Given the description of an element on the screen output the (x, y) to click on. 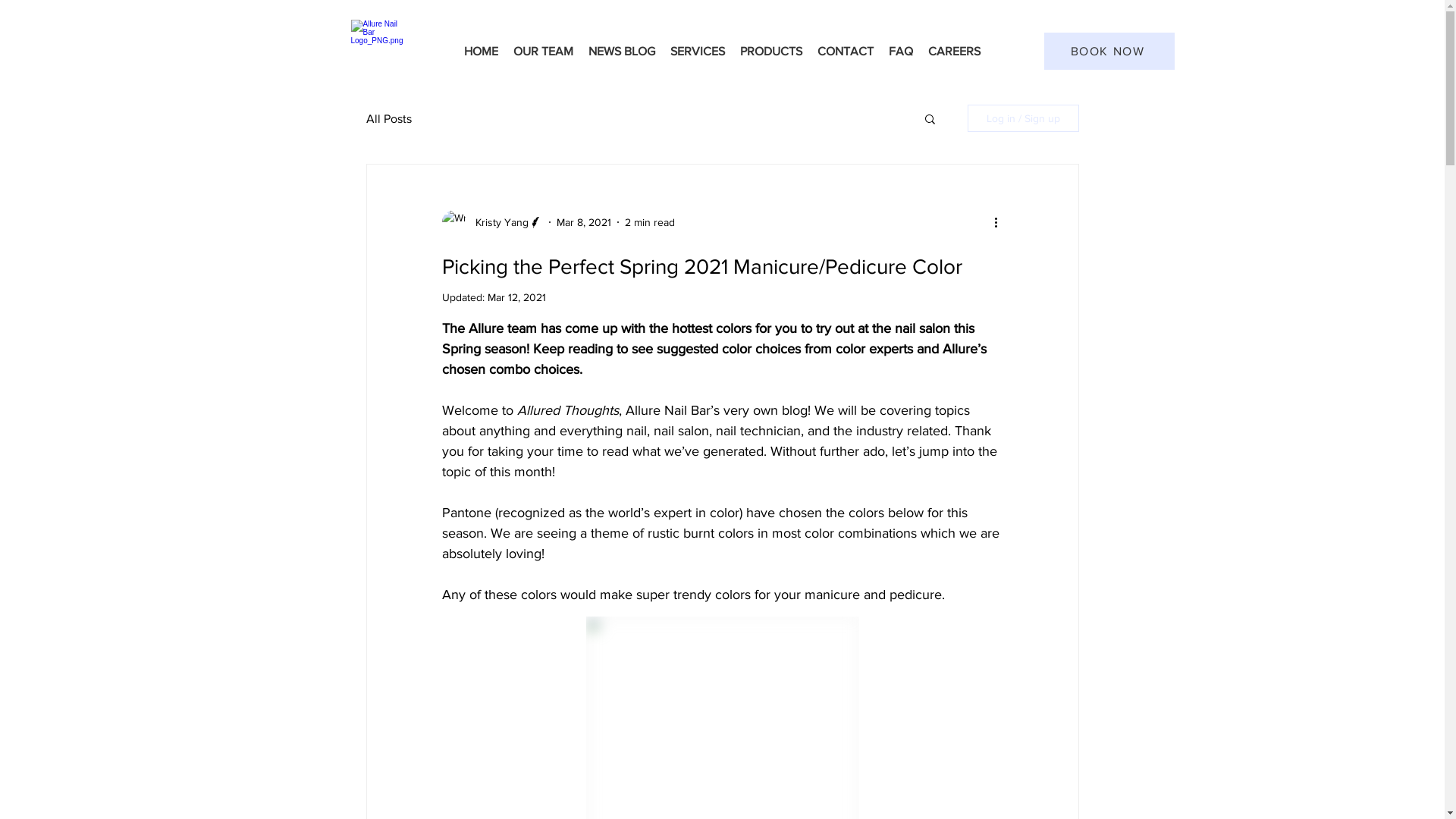
CONTACT Element type: text (845, 51)
CAREERS Element type: text (954, 51)
SERVICES Element type: text (697, 51)
PRODUCTS Element type: text (770, 51)
FAQ Element type: text (900, 51)
BOOK NOW Element type: text (1108, 50)
Log in / Sign up Element type: text (1023, 117)
OUR TEAM Element type: text (542, 51)
HOME Element type: text (480, 51)
All Posts Element type: text (388, 118)
NEWS BLOG Element type: text (621, 51)
